Given the description of an element on the screen output the (x, y) to click on. 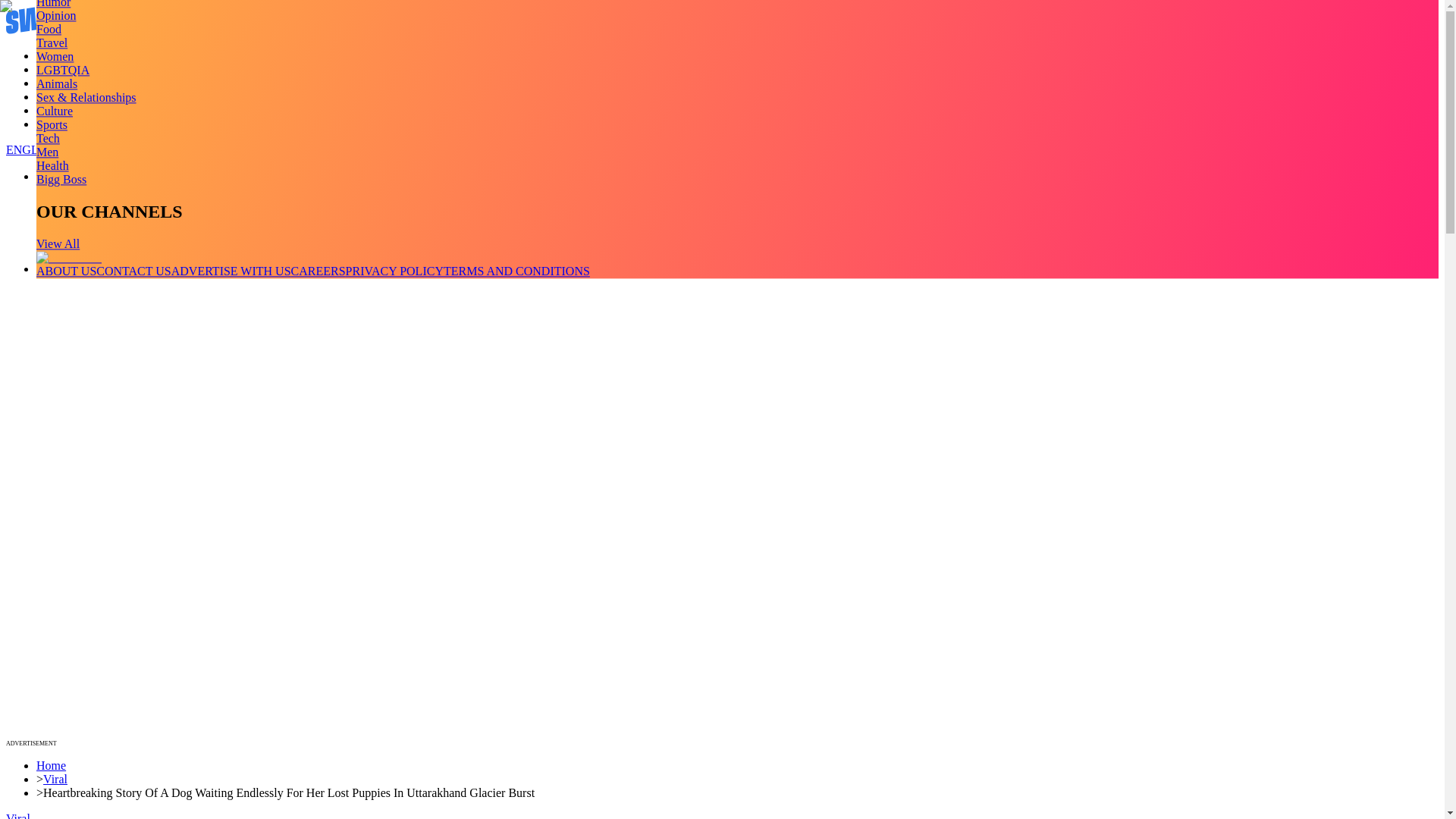
Trending (58, 55)
Travel (51, 42)
Food (48, 29)
Videos (52, 69)
Opinion (55, 15)
Men (47, 151)
LGBTQIA (62, 69)
Culture (54, 110)
ADVERTISE WITH US (231, 270)
Sports (51, 124)
